Given the description of an element on the screen output the (x, y) to click on. 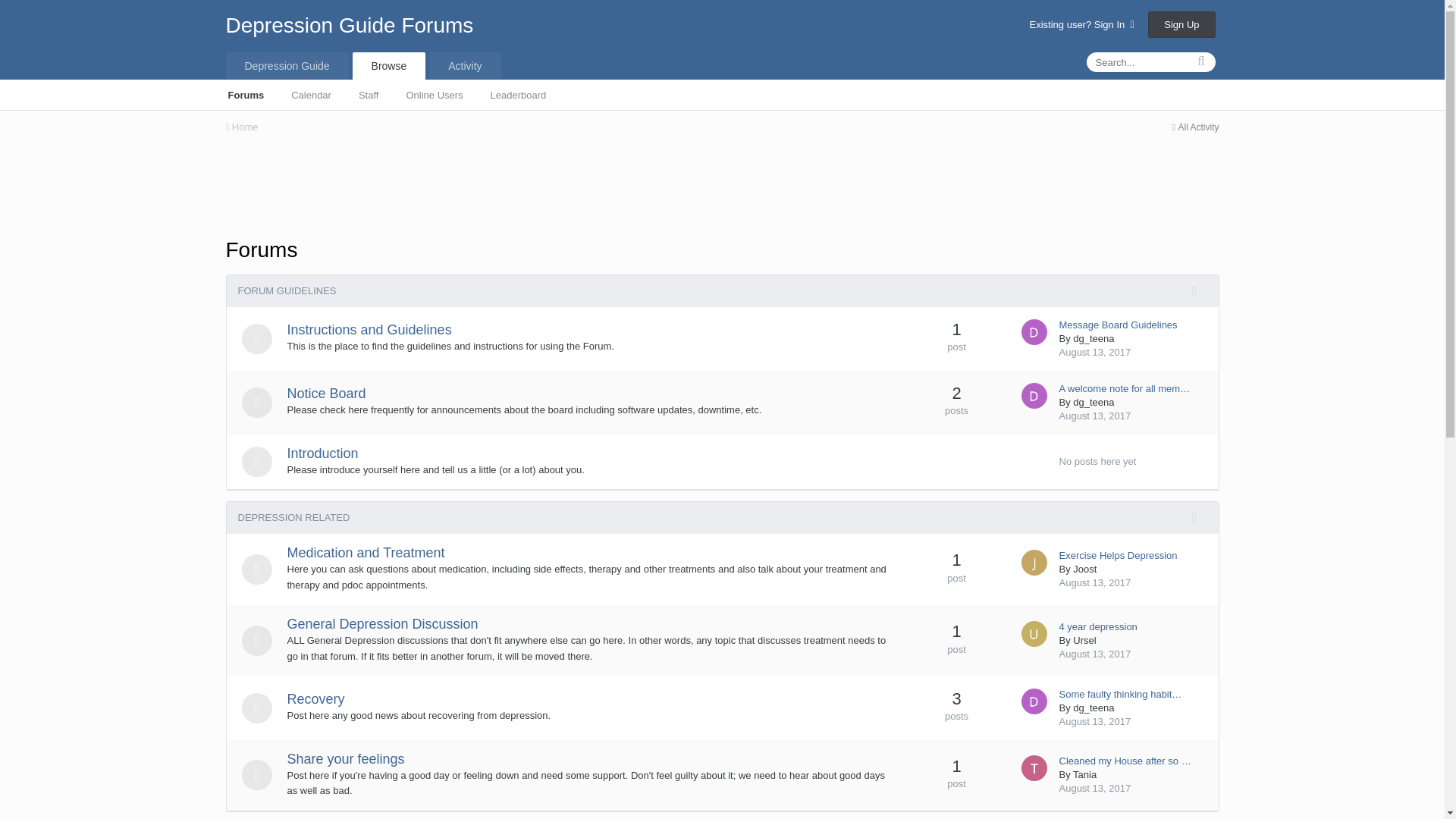
FORUM GUIDELINES (287, 290)
Home (242, 126)
Leaderboard (518, 93)
Existing user? Sign In   (1081, 24)
Go to Joost's profile (1084, 568)
Go to Joost's profile (1033, 562)
Activity (464, 65)
Depression Guide (287, 65)
Toggle this category (1199, 291)
A welcome note for all members!! (1123, 388)
Go to last post (1094, 415)
Forums (246, 93)
Go to last post (1094, 351)
Depression Guide Forums (349, 24)
Message Board Guidelines (1117, 324)
